Given the description of an element on the screen output the (x, y) to click on. 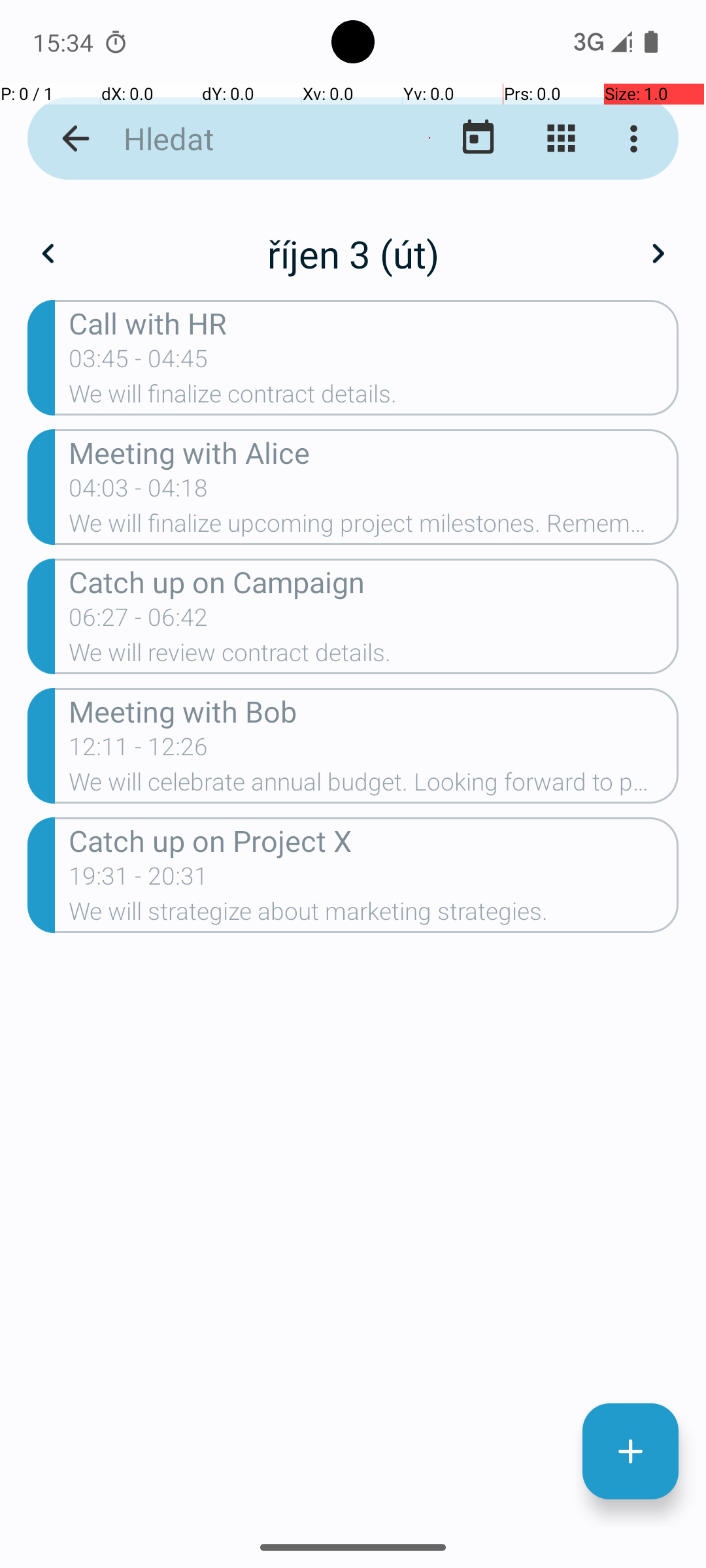
LEDEN Element type: android.widget.TextView (123, 319)
ÚNOR Element type: android.widget.TextView (352, 319)
BŘEZEN Element type: android.widget.TextView (582, 319)
DUBEN Element type: android.widget.TextView (123, 621)
KVĚTEN Element type: android.widget.TextView (352, 621)
ČERVEN Element type: android.widget.TextView (582, 621)
ČERVENEC Element type: android.widget.TextView (123, 923)
SRPEN Element type: android.widget.TextView (352, 923)
ZÁŘÍ Element type: android.widget.TextView (582, 923)
ŘÍJEN Element type: android.widget.TextView (123, 1224)
LISTOPAD Element type: android.widget.TextView (352, 1224)
PROSINEC Element type: android.widget.TextView (582, 1224)
září Element type: android.widget.TextView (352, 239)
říjen 3 (út) Element type: android.widget.TextView (352, 253)
03:45 - 04:45 Element type: android.widget.TextView (137, 362)
We will finalize contract details. Element type: android.widget.TextView (373, 397)
04:03 - 04:18 Element type: android.widget.TextView (137, 491)
We will finalize upcoming project milestones. Remember to confirm attendance. Element type: android.widget.TextView (373, 526)
06:27 - 06:42 Element type: android.widget.TextView (137, 620)
We will review contract details. Element type: android.widget.TextView (373, 656)
12:11 - 12:26 Element type: android.widget.TextView (137, 750)
We will celebrate annual budget. Looking forward to productive discussions. Element type: android.widget.TextView (373, 785)
19:31 - 20:31 Element type: android.widget.TextView (137, 879)
We will strategize about marketing strategies. Element type: android.widget.TextView (373, 914)
